Given the description of an element on the screen output the (x, y) to click on. 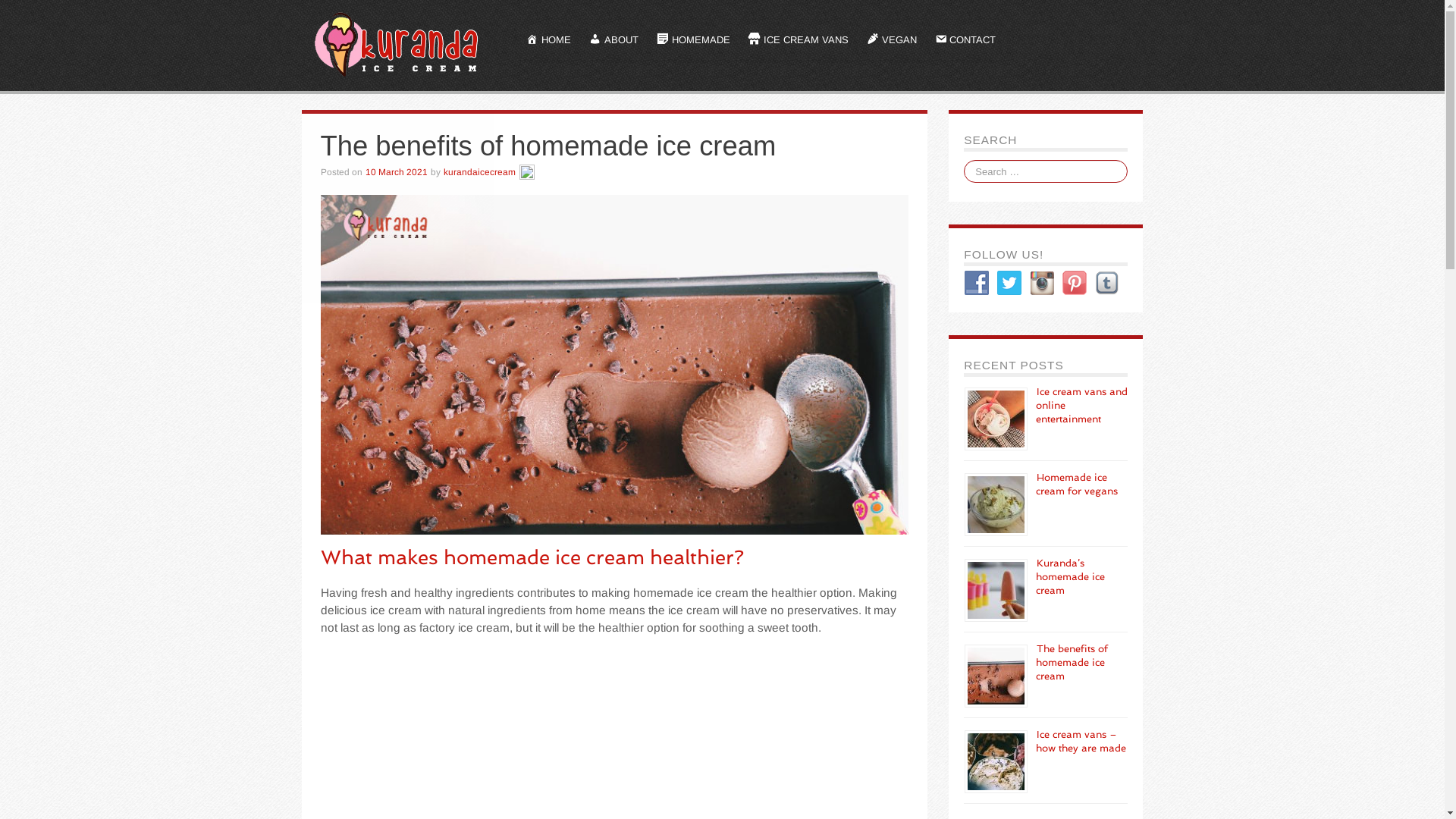
10 March 2021 Element type: text (397, 171)
kurandaicecream Element type: text (478, 171)
Follow Us on Facebook Element type: hover (976, 282)
ICE CREAM VANS Element type: text (798, 41)
The benefits of homemade ice cream Element type: text (1071, 662)
ABOUT Element type: text (613, 41)
VEGAN Element type: text (891, 41)
Follow Us on Twitter Element type: hover (1009, 282)
Follow Us on Instagram Element type: hover (1041, 282)
HOMEMADE Element type: text (693, 41)
Homemade ice cream for vegans Element type: text (1076, 483)
Kuranda Ice Cream Element type: hover (398, 44)
HOME Element type: text (548, 41)
Ice cream vans and online entertainment Element type: text (1081, 404)
View all posts by kurandaicecream Element type: hover (525, 171)
Follow Us on Tumblr Element type: hover (1107, 282)
CONTACT Element type: text (965, 41)
Follow Us on Pinterest Element type: hover (1074, 282)
